Given the description of an element on the screen output the (x, y) to click on. 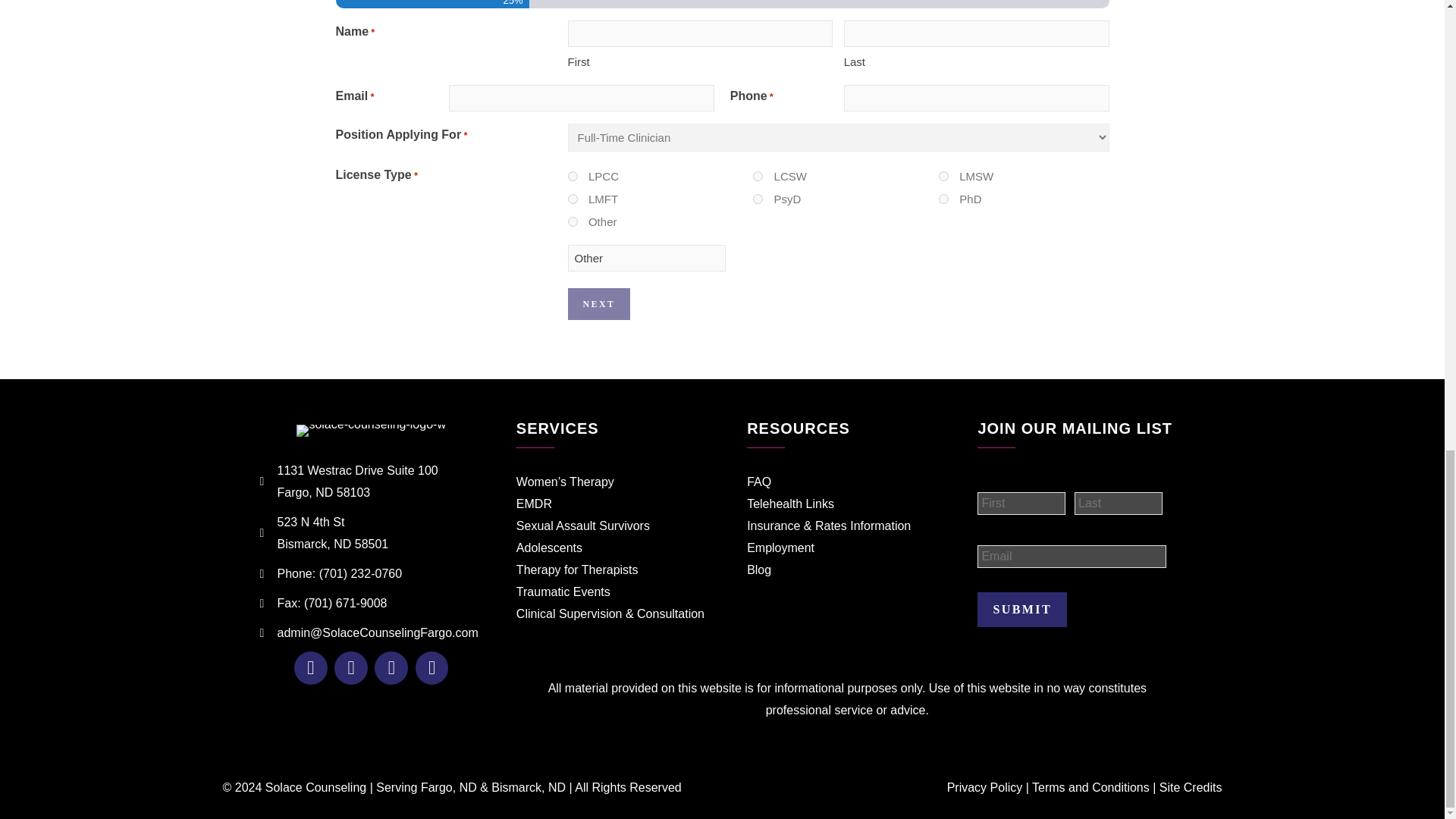
Sexual Assault Survivors (582, 525)
LPCC (571, 175)
LMFT (571, 198)
LCSW (757, 175)
Submit (1021, 609)
solace-counseling-logo-w (371, 430)
PhD (944, 198)
Adolescents (549, 547)
PsyD (757, 198)
Therapy for Therapists (577, 569)
Other (646, 257)
EMDR (533, 503)
Next (598, 304)
LMSW (944, 175)
